Given the description of an element on the screen output the (x, y) to click on. 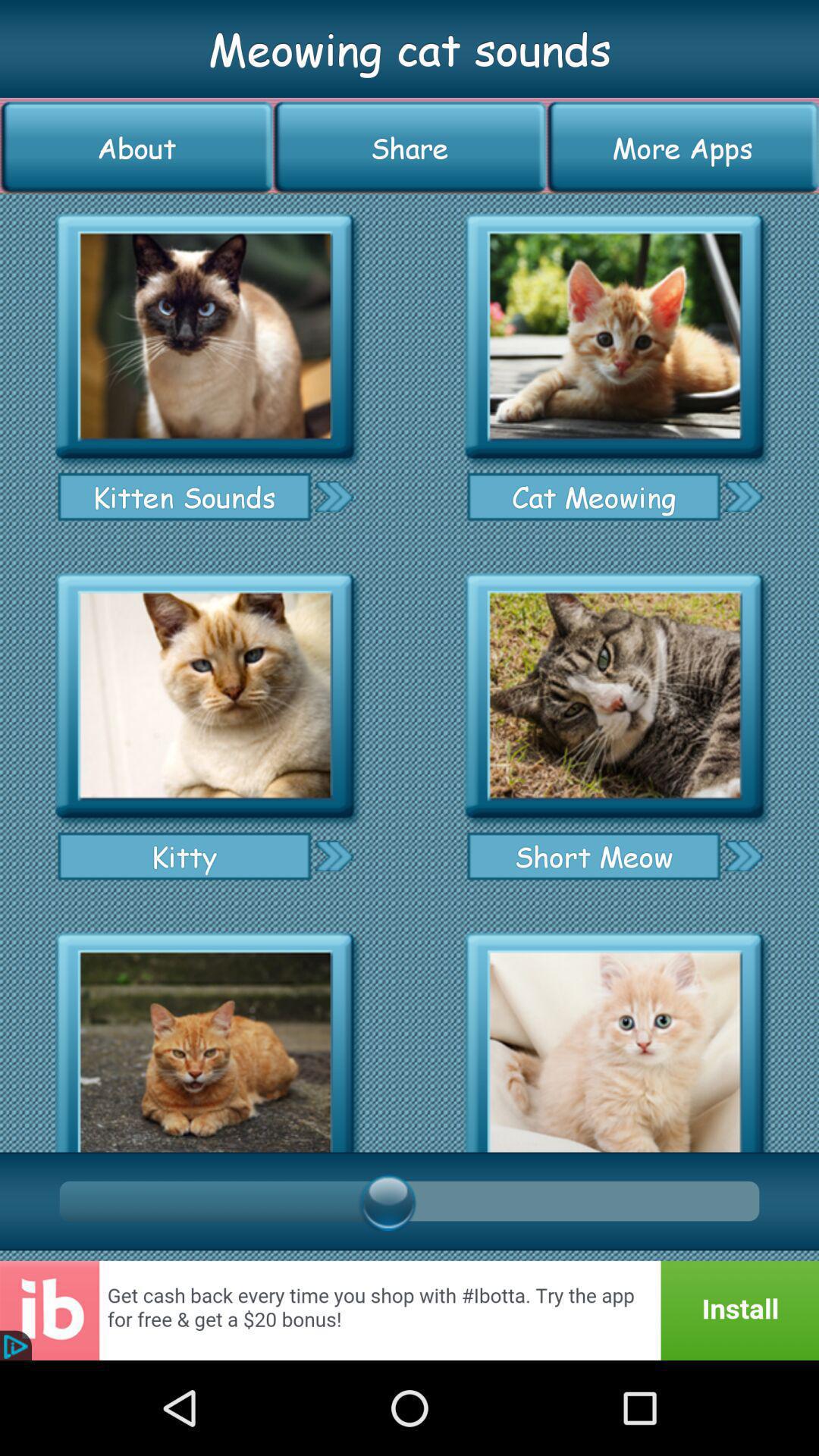
go to kitten sounds page (333, 496)
